Given the description of an element on the screen output the (x, y) to click on. 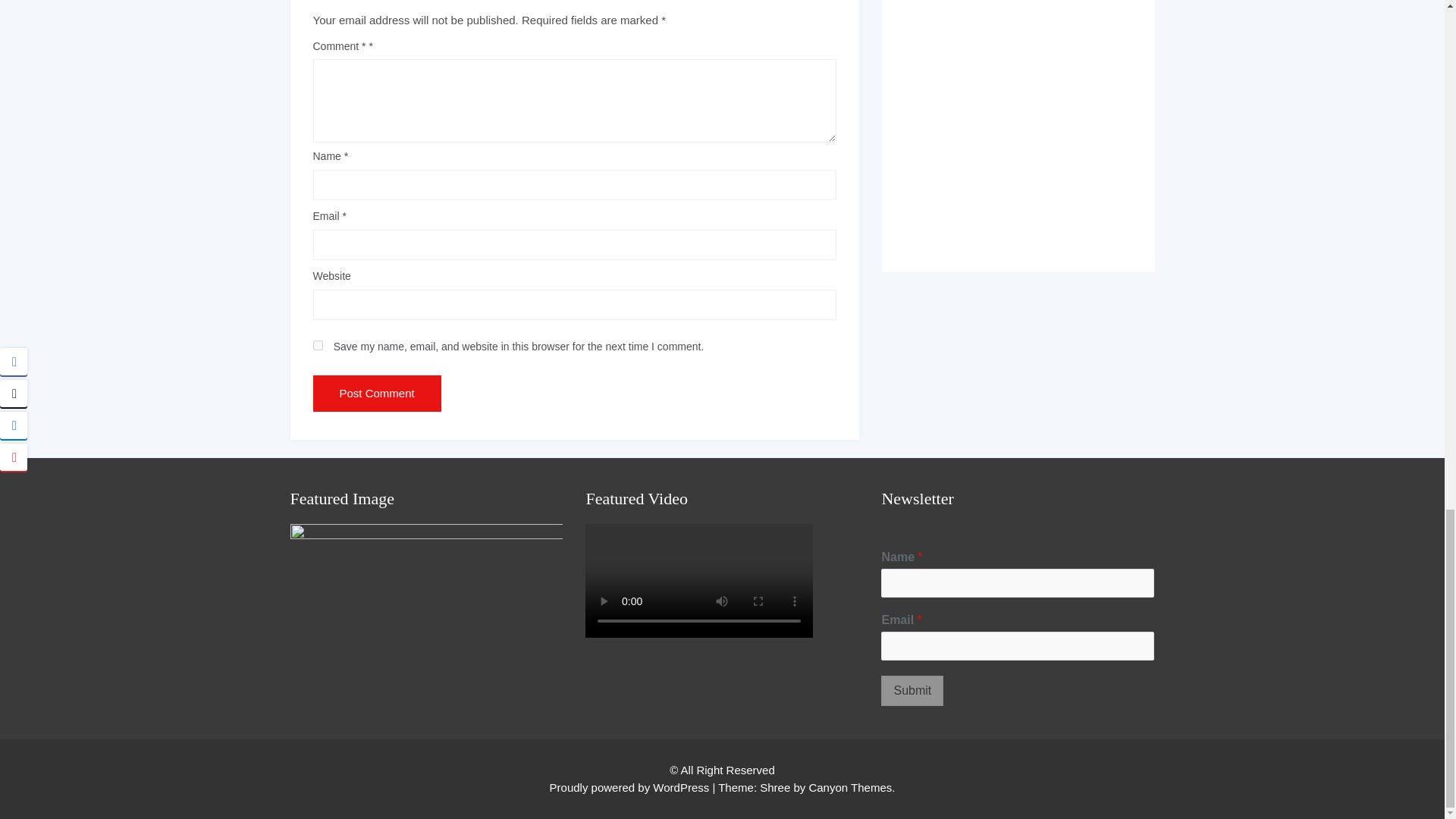
Post Comment (377, 393)
Post Comment (377, 393)
yes (317, 345)
